Given the description of an element on the screen output the (x, y) to click on. 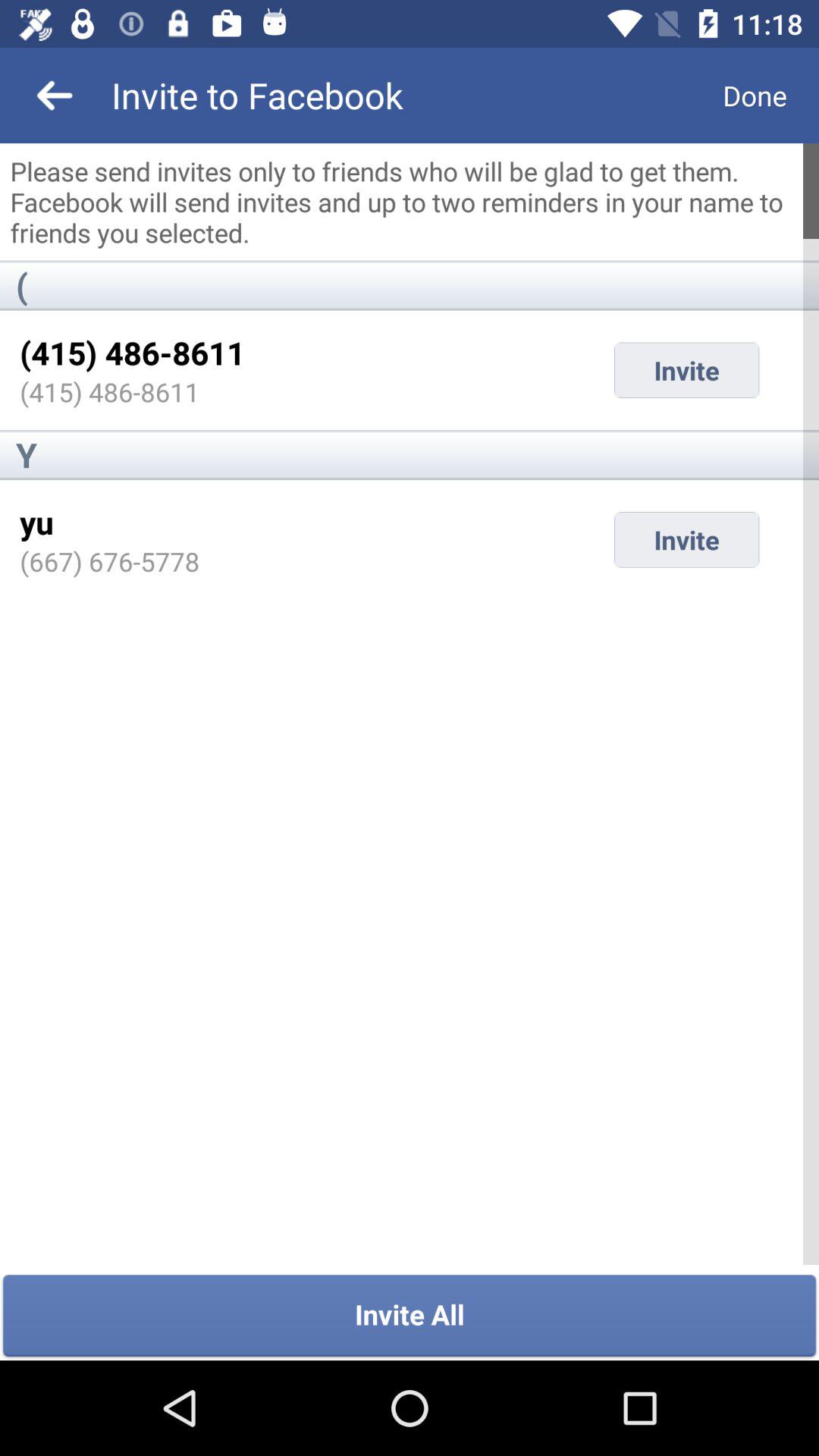
flip until done icon (755, 95)
